Given the description of an element on the screen output the (x, y) to click on. 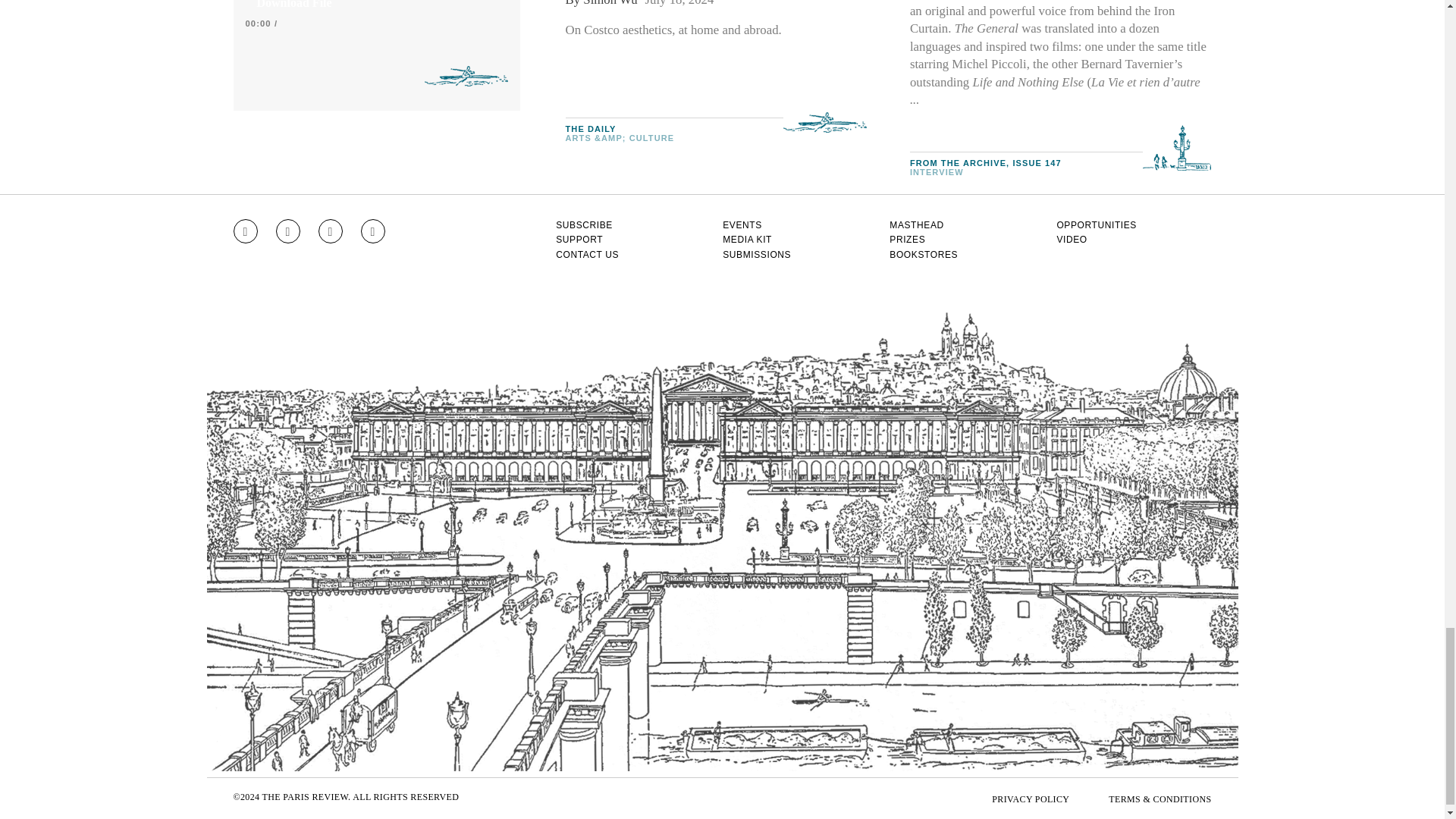
Go to Twitter feed (330, 231)
Go to RSS feed (373, 231)
Go to Facebook page (287, 231)
Go to Instagram feed (244, 231)
